Given the description of an element on the screen output the (x, y) to click on. 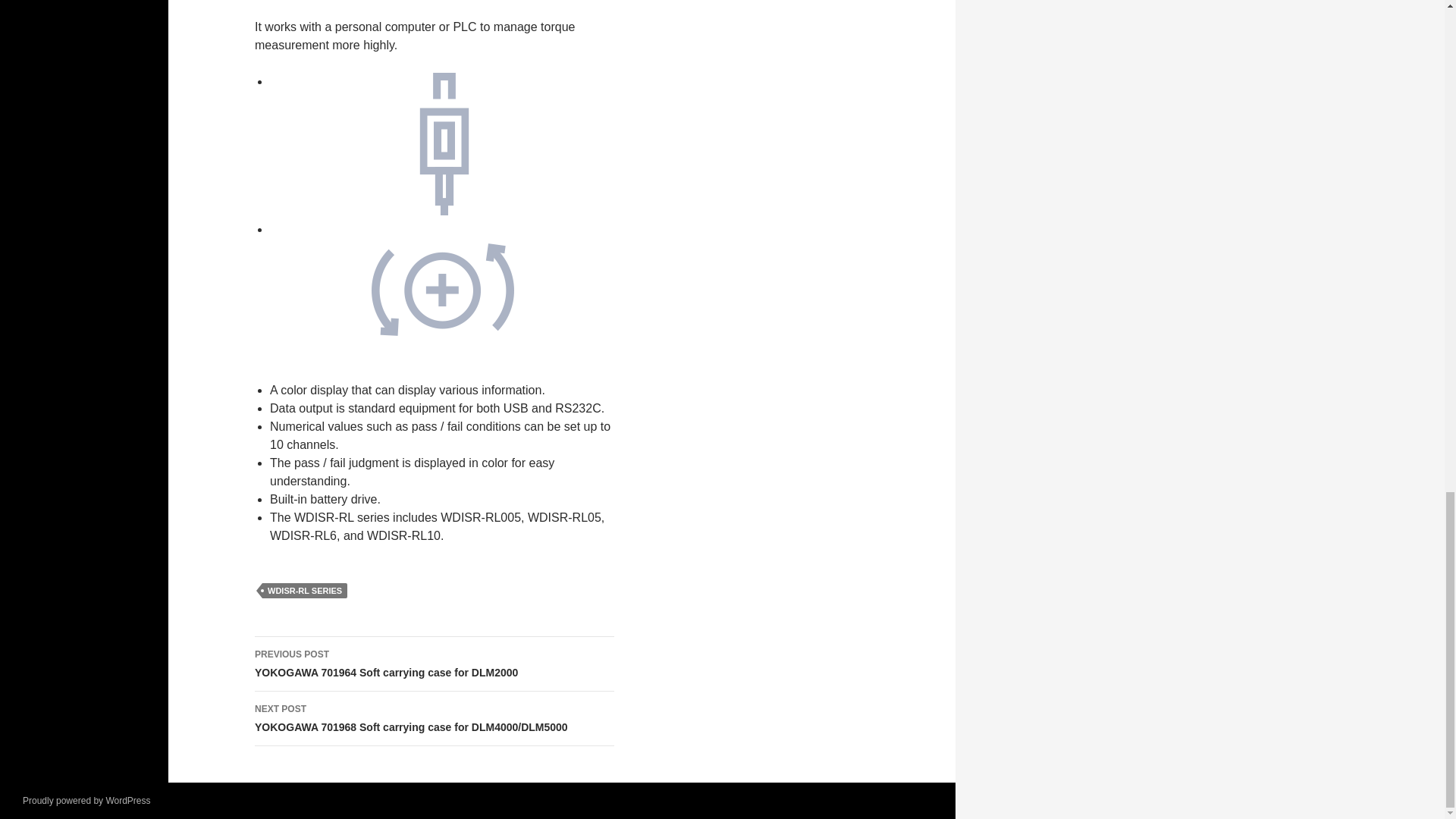
Proudly powered by WordPress (434, 664)
WDISR-RL SERIES (87, 800)
